Given the description of an element on the screen output the (x, y) to click on. 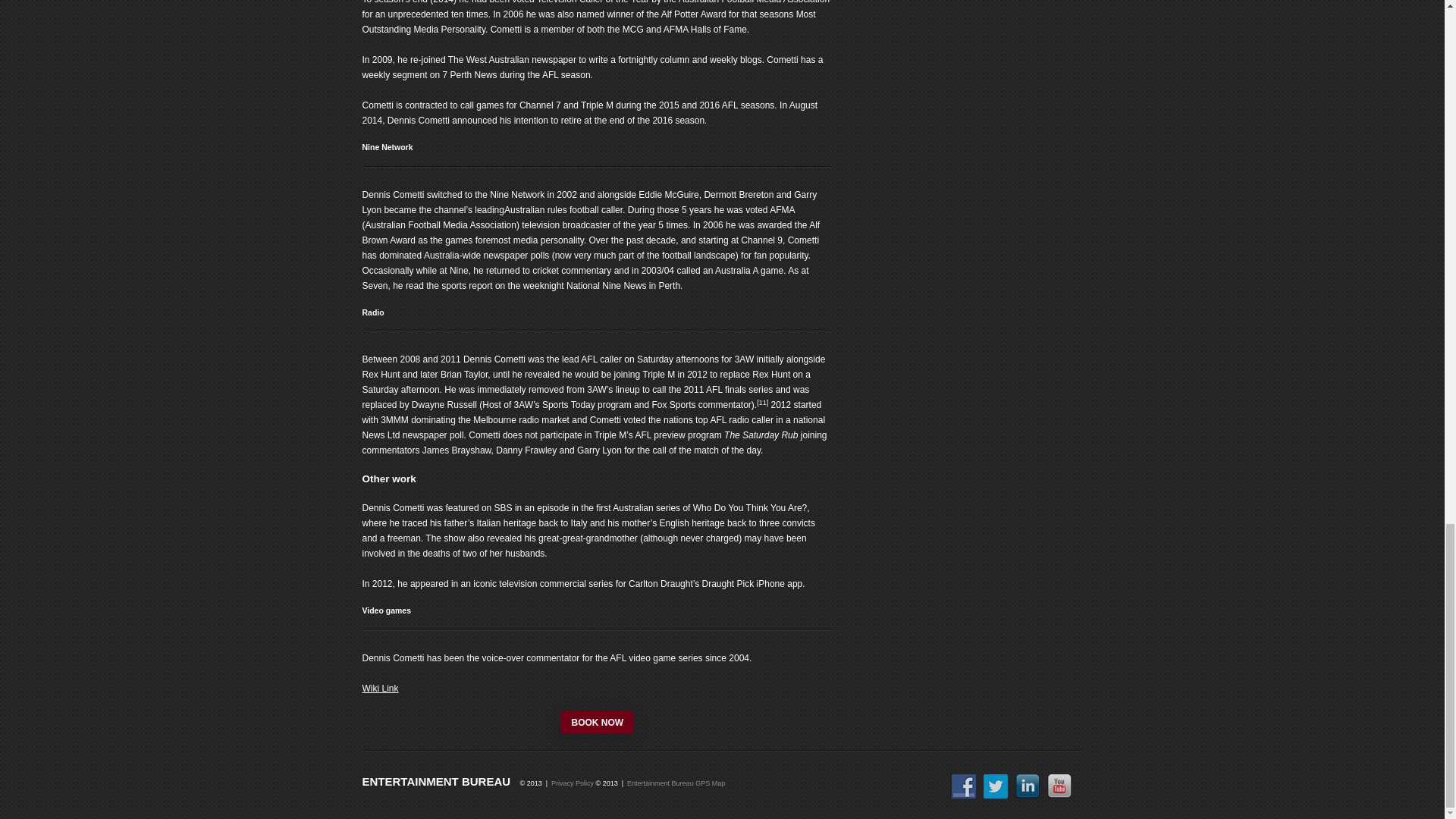
 Facebook (962, 785)
 LinkedIn (1026, 785)
 Twitter (994, 785)
Entertainment Booking Agents (436, 781)
 YouTube (1058, 785)
Privacy Policy (572, 783)
